Given the description of an element on the screen output the (x, y) to click on. 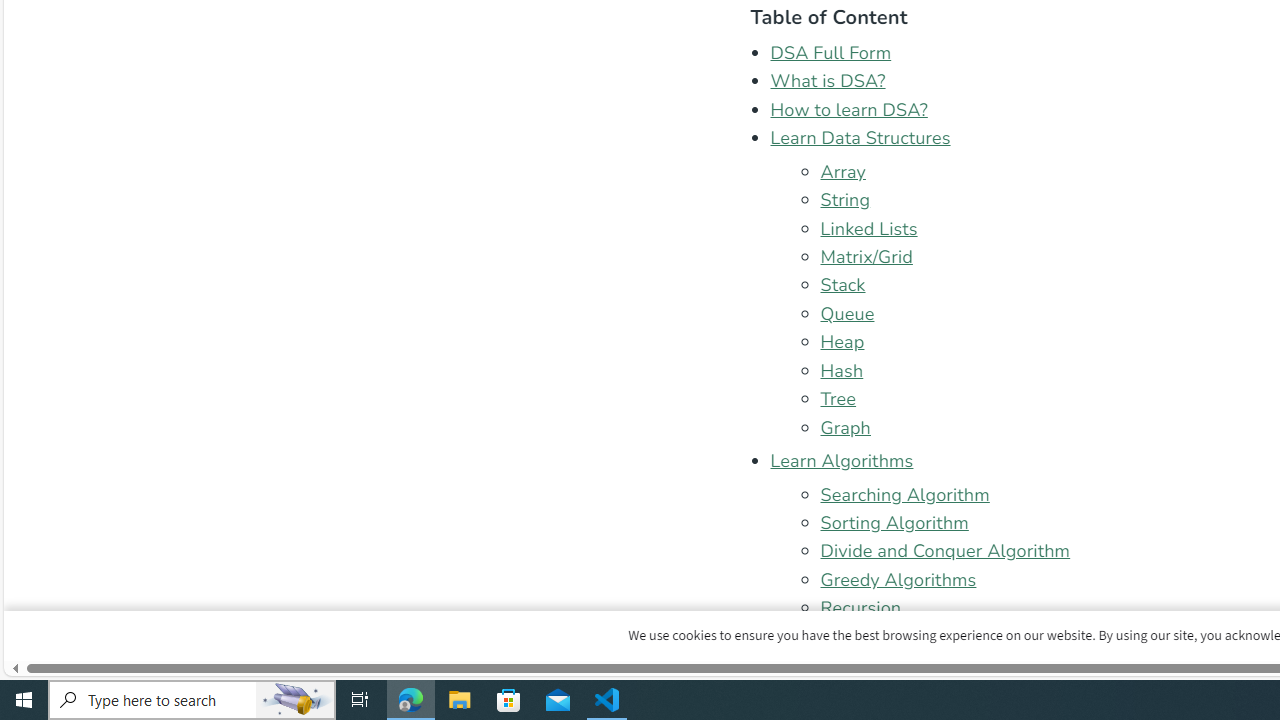
Stack (843, 285)
DSA Full Form (831, 52)
Sorting Algorithm (894, 521)
Heap (842, 341)
Backtracking Algorithm (916, 636)
Matrix/Grid (866, 257)
How to learn DSA? (849, 109)
Greedy Algorithms (898, 579)
Divide and Conquer Algorithm (945, 551)
Searching Algorithm (904, 493)
Tree (838, 399)
Hash (842, 370)
Linked Lists (868, 228)
Learn Data Structures (860, 138)
Graph (845, 426)
